Given the description of an element on the screen output the (x, y) to click on. 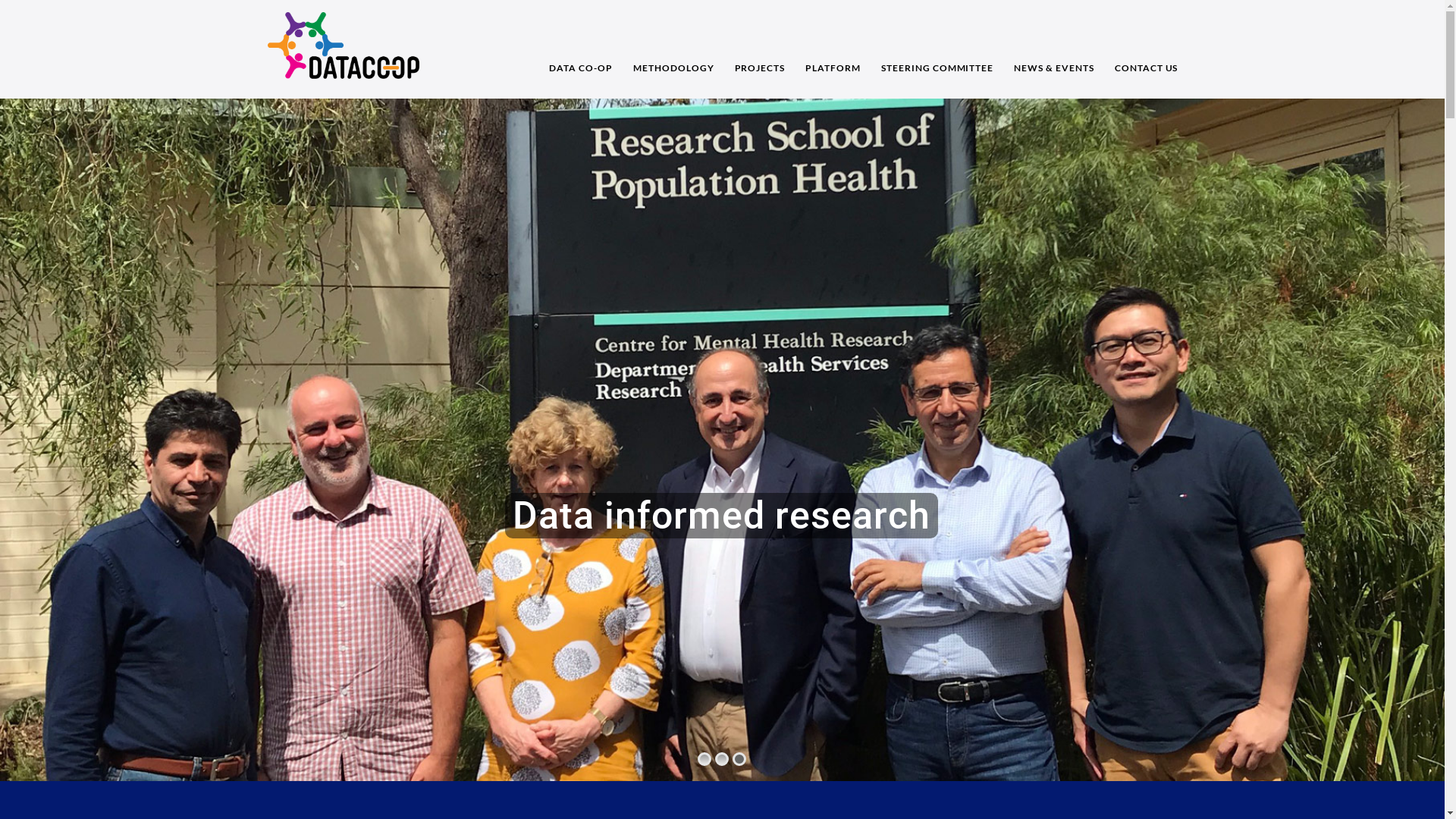
PLATFORM Element type: text (832, 49)
NEWS & EVENTS Element type: text (1053, 49)
DATA CO-OP Element type: text (580, 49)
STEERING COMMITTEE Element type: text (936, 49)
METHODOLOGY Element type: text (673, 49)
CONTACT US Element type: text (1140, 49)
PROJECTS Element type: text (759, 49)
